Given the description of an element on the screen output the (x, y) to click on. 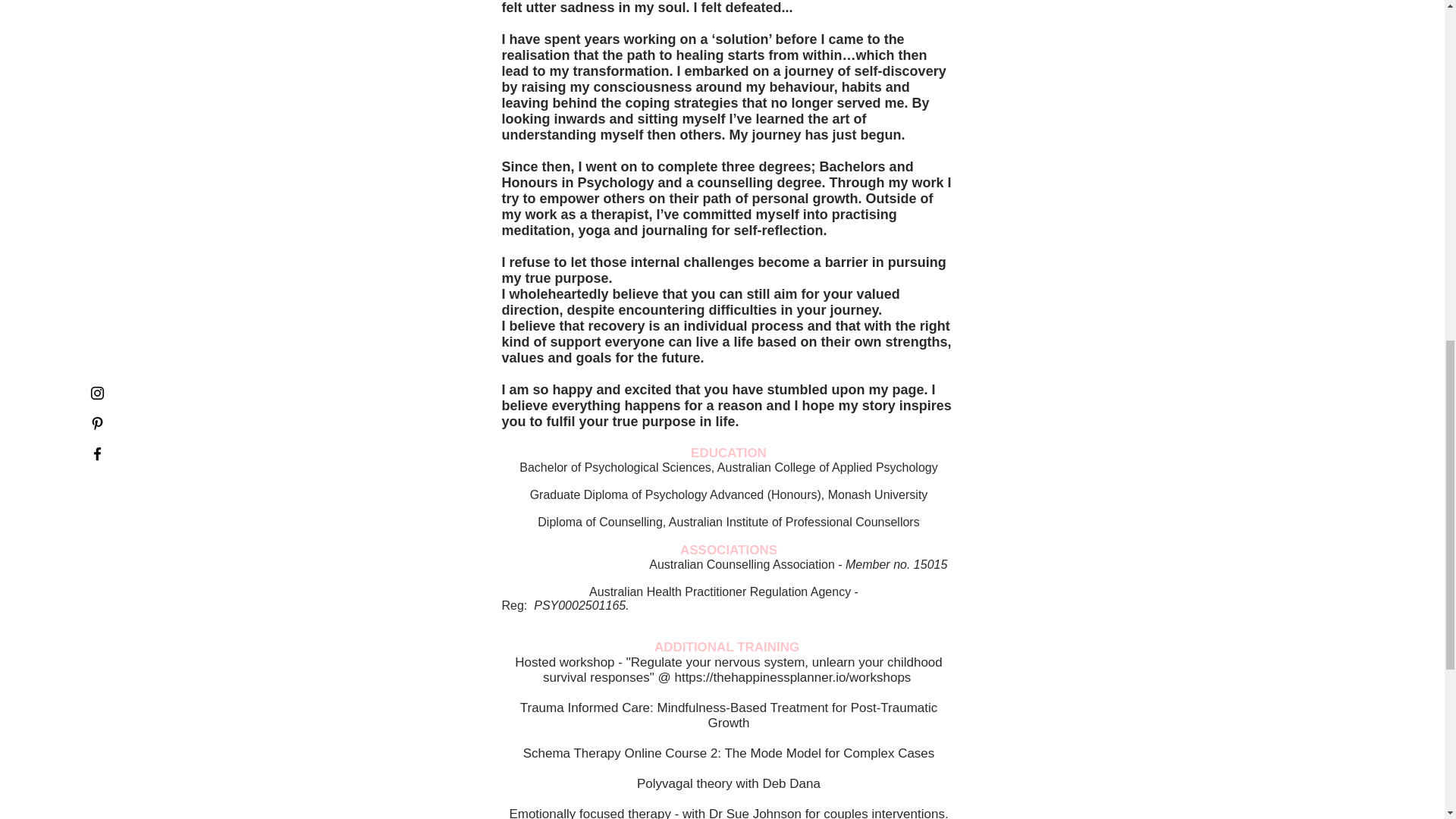
 PSY0002501165. (579, 604)
Australian Health Practitioner Regulation Agency - Reg:  (680, 598)
